Given the description of an element on the screen output the (x, y) to click on. 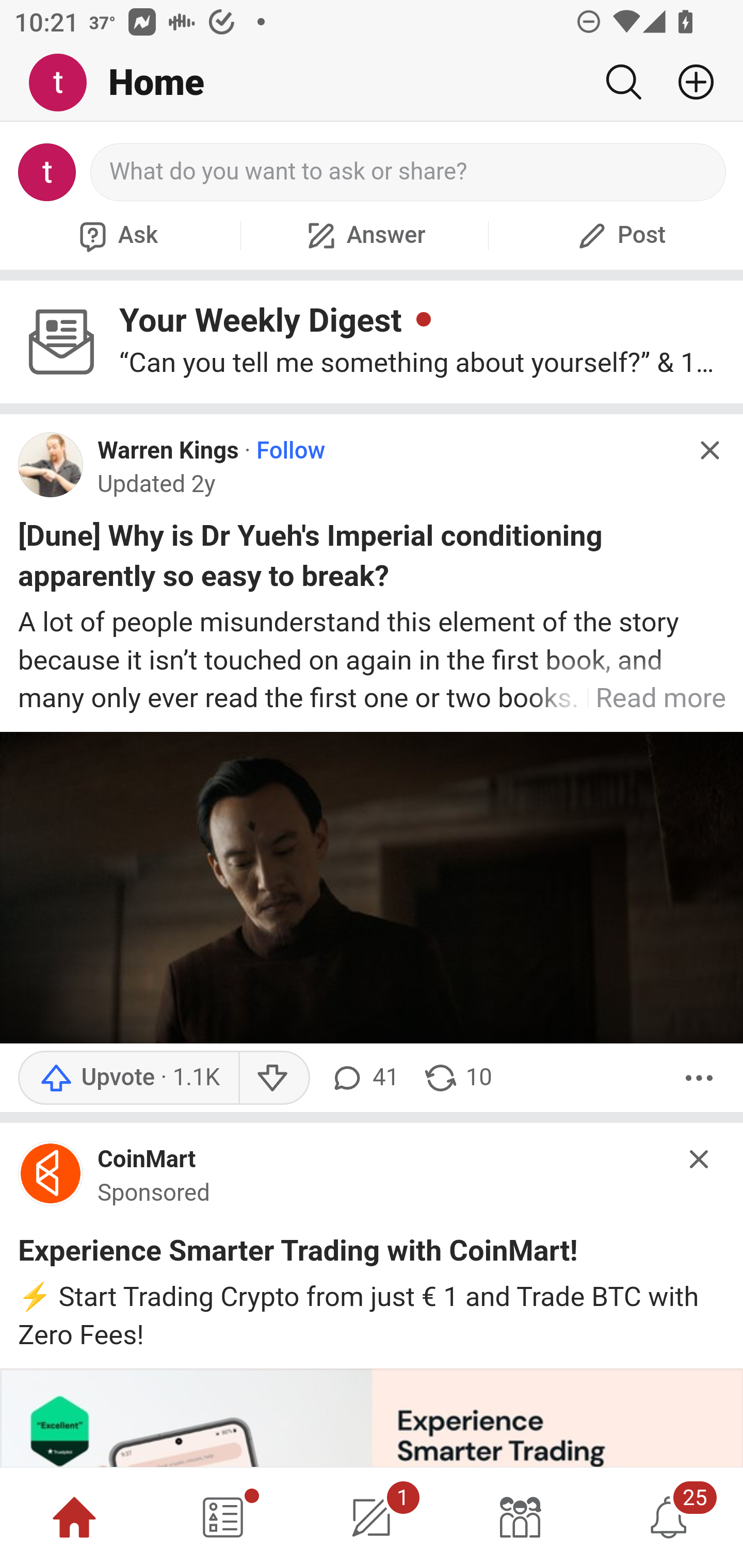
Me (64, 83)
Search (623, 82)
Add (688, 82)
What do you want to ask or share? (408, 172)
Ask (116, 234)
Answer (364, 234)
Post (618, 234)
Hide (709, 449)
Profile photo for Warren Kings (50, 465)
Warren Kings (168, 451)
Follow (291, 451)
Updated 2y Updated  2 y (156, 484)
Upvote (127, 1076)
Downvote (273, 1076)
41 comments (363, 1076)
10 shares (457, 1076)
More (699, 1076)
Hide (699, 1158)
main-qimg-8807c8a0d662434e6bcbf097b9c441d6 (50, 1177)
CoinMart (146, 1159)
Sponsored (154, 1193)
Experience Smarter Trading with CoinMart! (297, 1253)
1 (371, 1517)
25 (668, 1517)
